Given the description of an element on the screen output the (x, y) to click on. 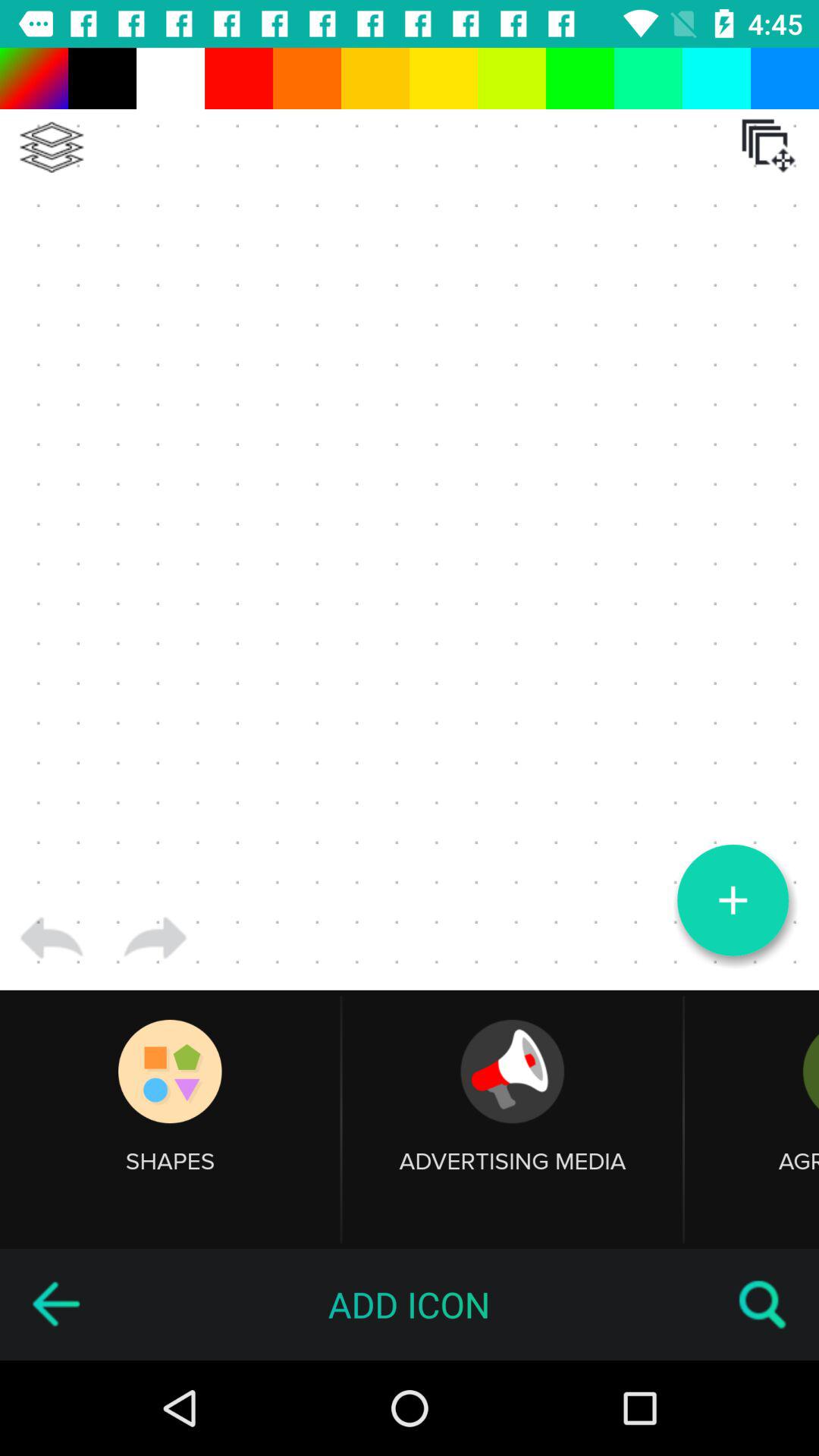
shows reverse aeromark (55, 1304)
